Given the description of an element on the screen output the (x, y) to click on. 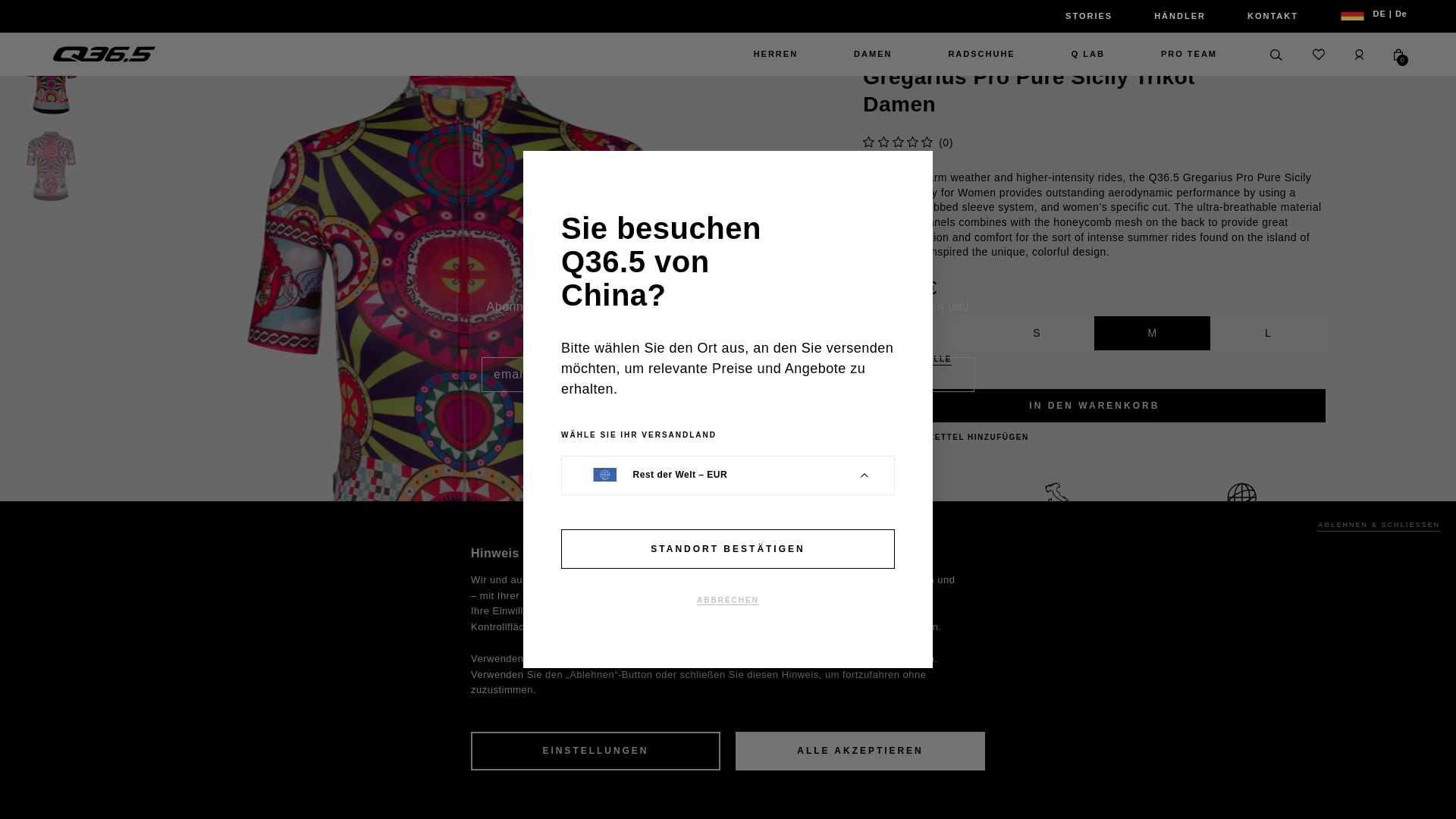
Q LAB (1087, 54)
Stories (1088, 15)
Damen (872, 54)
Herren (775, 54)
Q LAB (1087, 54)
Kontakt (1272, 15)
KONTAKT (1272, 15)
Radsportbekleidung Q36.5 (103, 54)
RADSCHUHE (981, 54)
DAMEN (872, 54)
HERREN (775, 54)
PRO TEAM (1181, 54)
Radschuhe (981, 54)
STORIES (1088, 15)
Anmelden (720, 442)
